Given the description of an element on the screen output the (x, y) to click on. 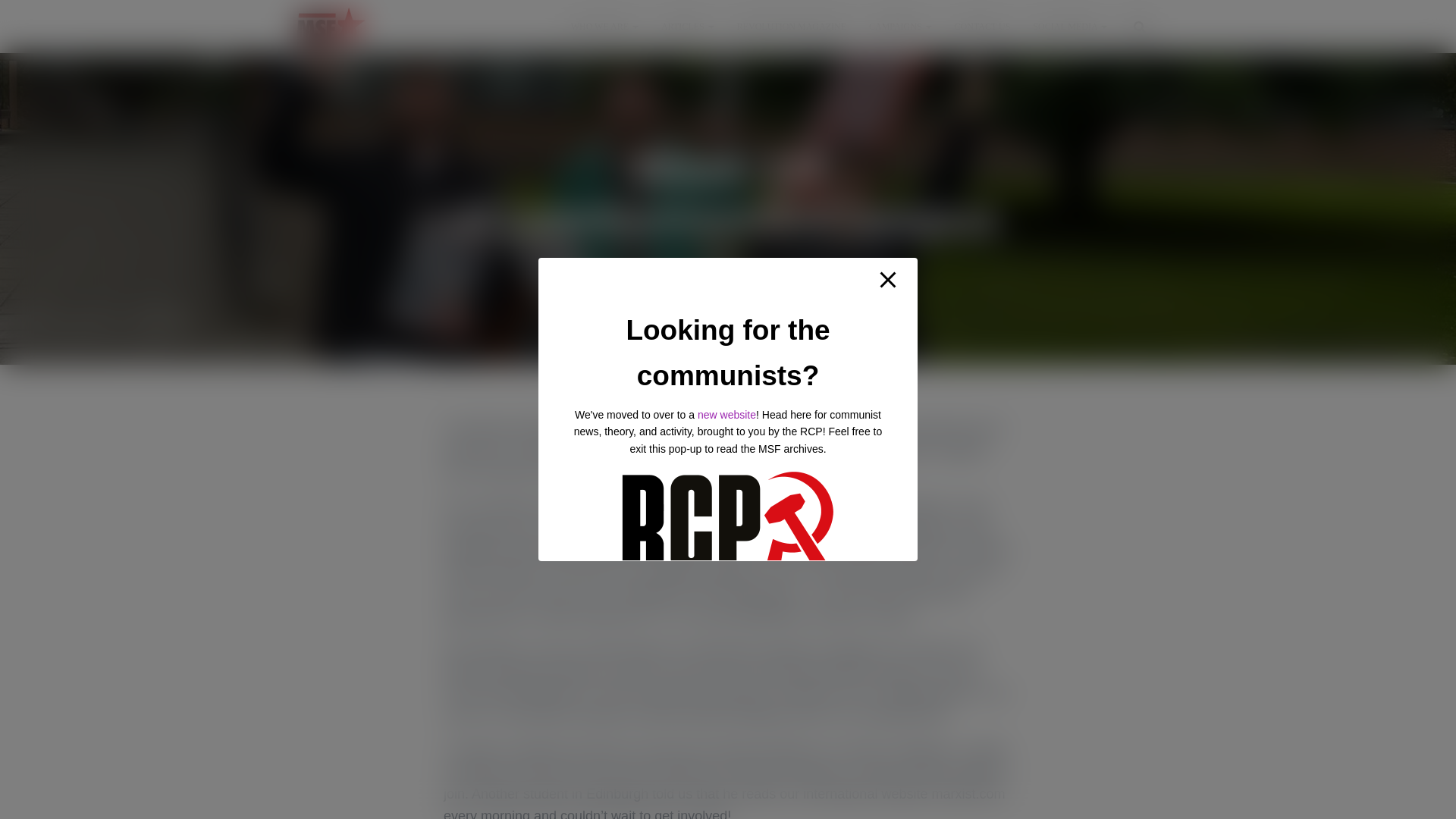
Marxist Student Federation (330, 26)
CAMPAIGNS (900, 26)
Who we are (604, 26)
SOCIAL MEDIA (1070, 26)
Search (3, 16)
CONTACT US (982, 26)
REVOLUTION MAGAZINE (791, 26)
ARTICLES (687, 26)
WHO WE ARE (604, 26)
Articles (687, 26)
